Given the description of an element on the screen output the (x, y) to click on. 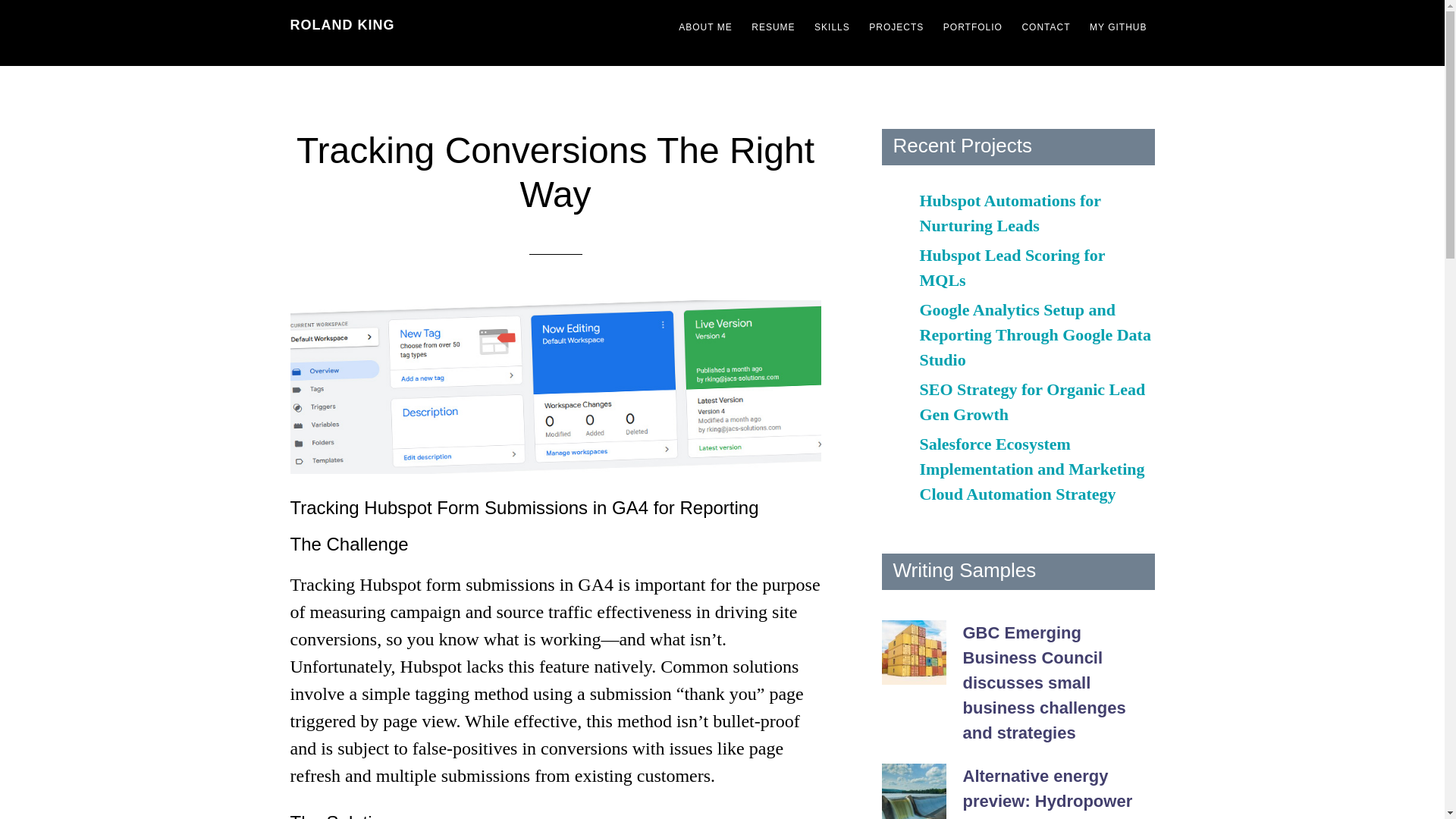
PROJECTS (896, 27)
Hubspot Automations for Nurturing Leads (1009, 212)
Hubspot Lead Scoring for MQLs (1011, 267)
RESUME (773, 27)
ROLAND KING (341, 24)
ABOUT ME (705, 27)
Alternative energy preview: Hydropower (1047, 788)
MY GITHUB (1117, 27)
SKILLS (831, 27)
